Given the description of an element on the screen output the (x, y) to click on. 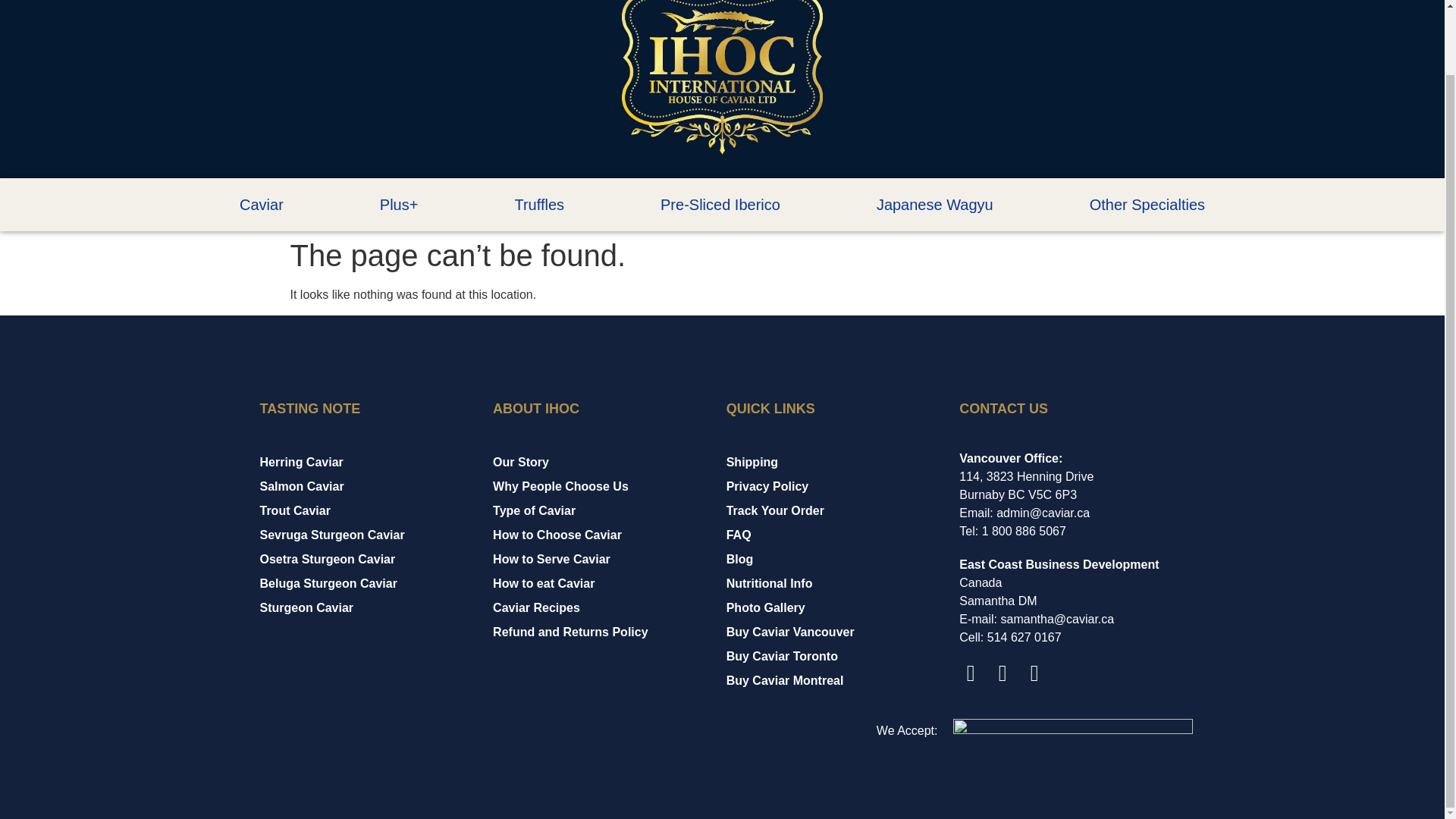
Pre-Sliced Iberico (720, 204)
Truffles (538, 204)
Other Specialties (1146, 204)
Caviar (260, 204)
Japanese Wagyu (934, 204)
